Given the description of an element on the screen output the (x, y) to click on. 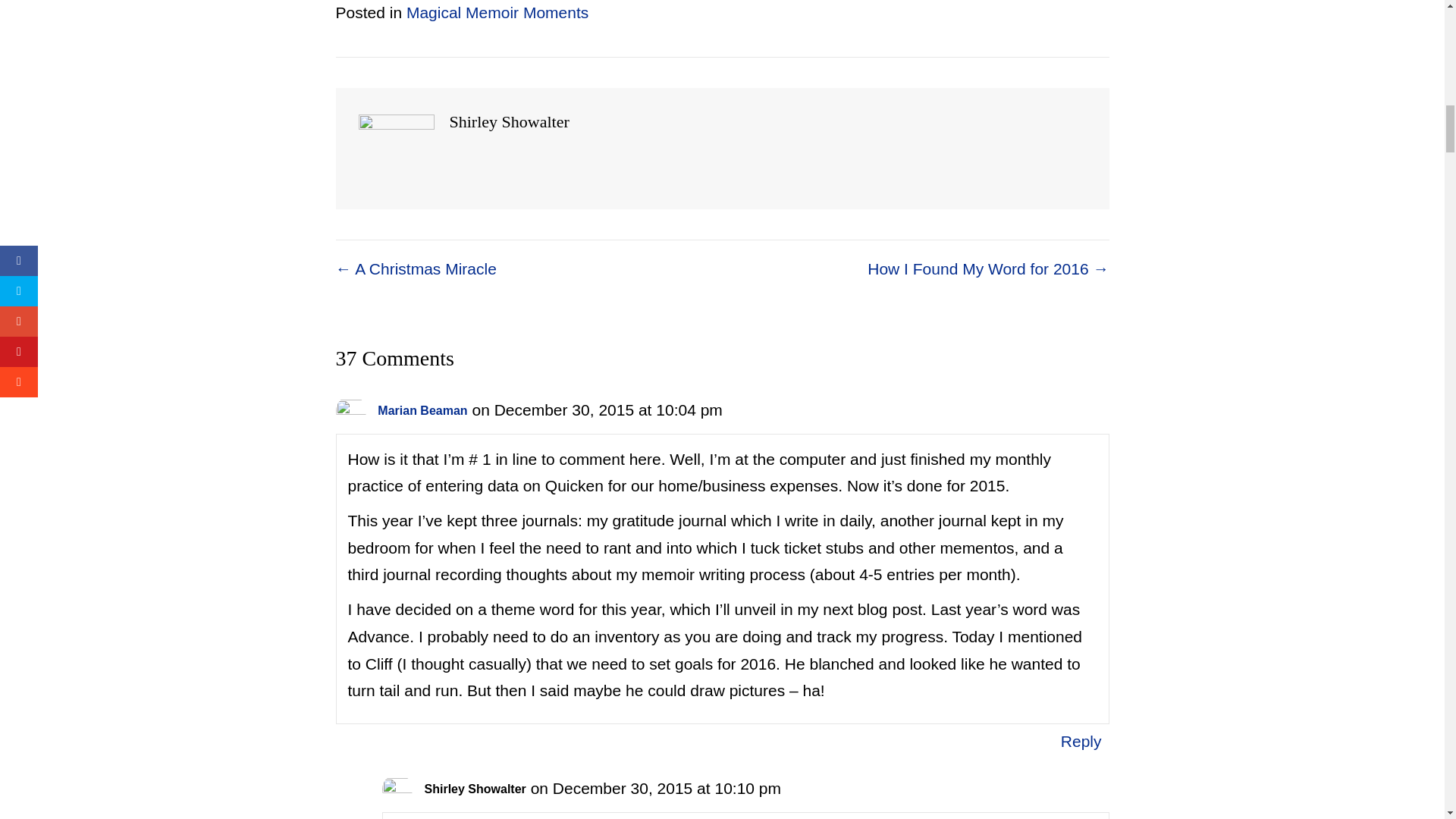
Marian Beaman (422, 410)
Magical Memoir Moments (497, 12)
Reply (1081, 740)
